Given the description of an element on the screen output the (x, y) to click on. 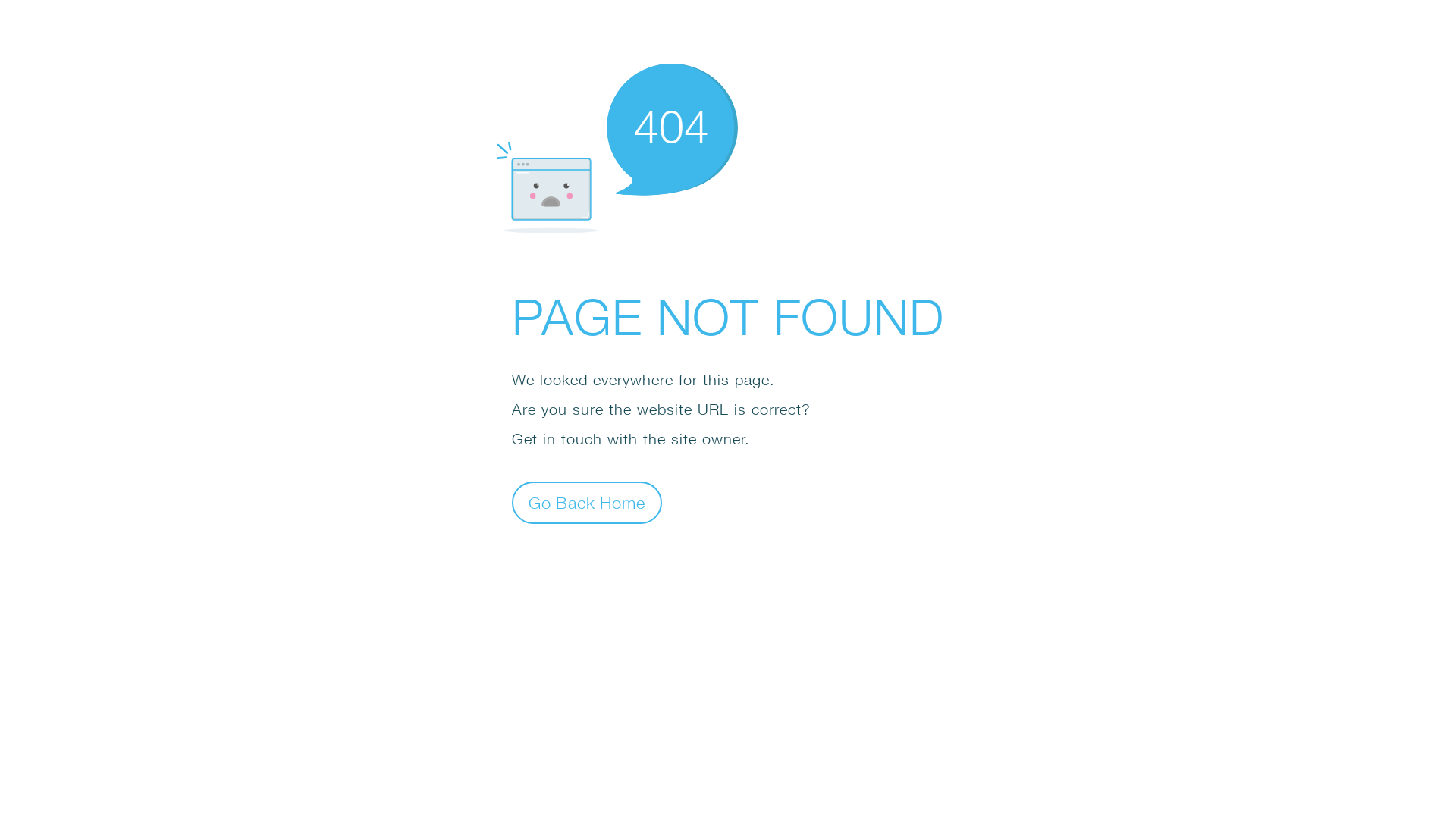
Go Back Home Element type: text (586, 502)
